Given the description of an element on the screen output the (x, y) to click on. 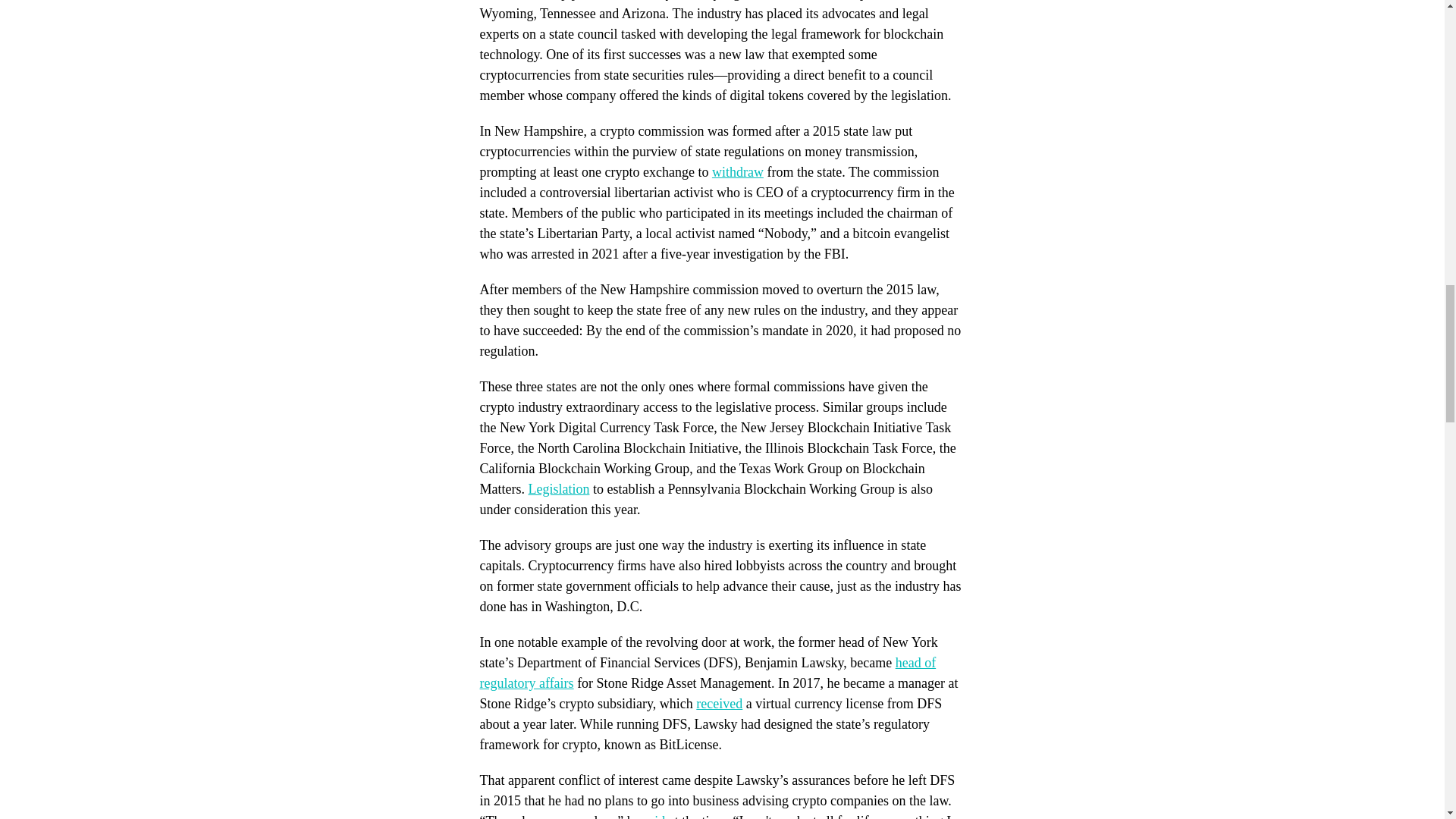
head of regulatory affairs (707, 673)
withdraw (736, 171)
Legislation (558, 488)
received (718, 703)
said (654, 816)
